Given the description of an element on the screen output the (x, y) to click on. 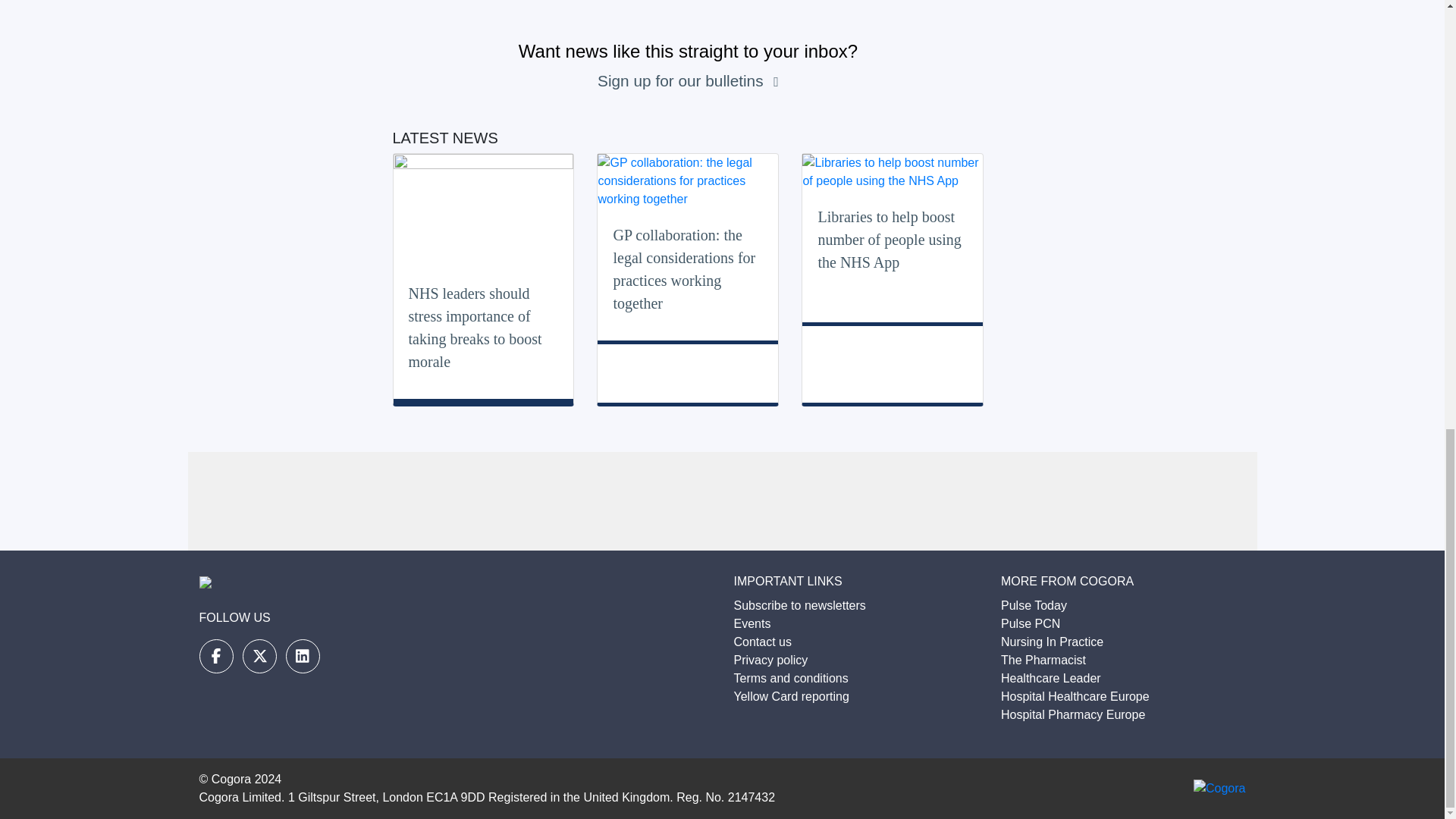
Events (752, 623)
Pulse PCN (1030, 623)
Contact us (762, 641)
Privacy policy (770, 659)
Yellow Card reporting (790, 696)
Pulse Today (1034, 604)
Hospital Pharmacy Europe (1072, 714)
Healthcare Leader (1050, 677)
The Pharmacist (1043, 659)
Subscribe to newsletters (799, 604)
